Given the description of an element on the screen output the (x, y) to click on. 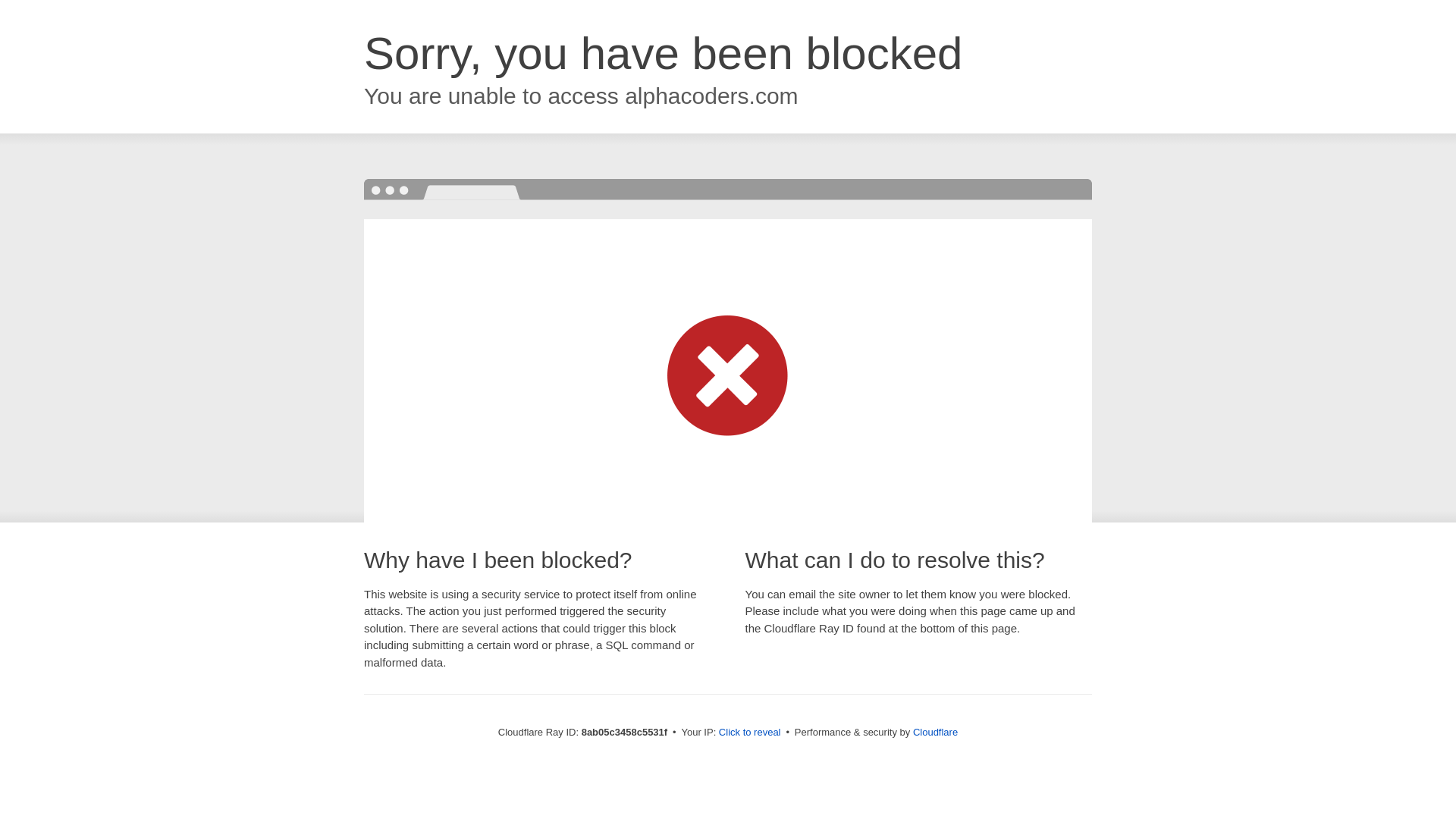
Click to reveal (749, 732)
Cloudflare (935, 731)
